Given the description of an element on the screen output the (x, y) to click on. 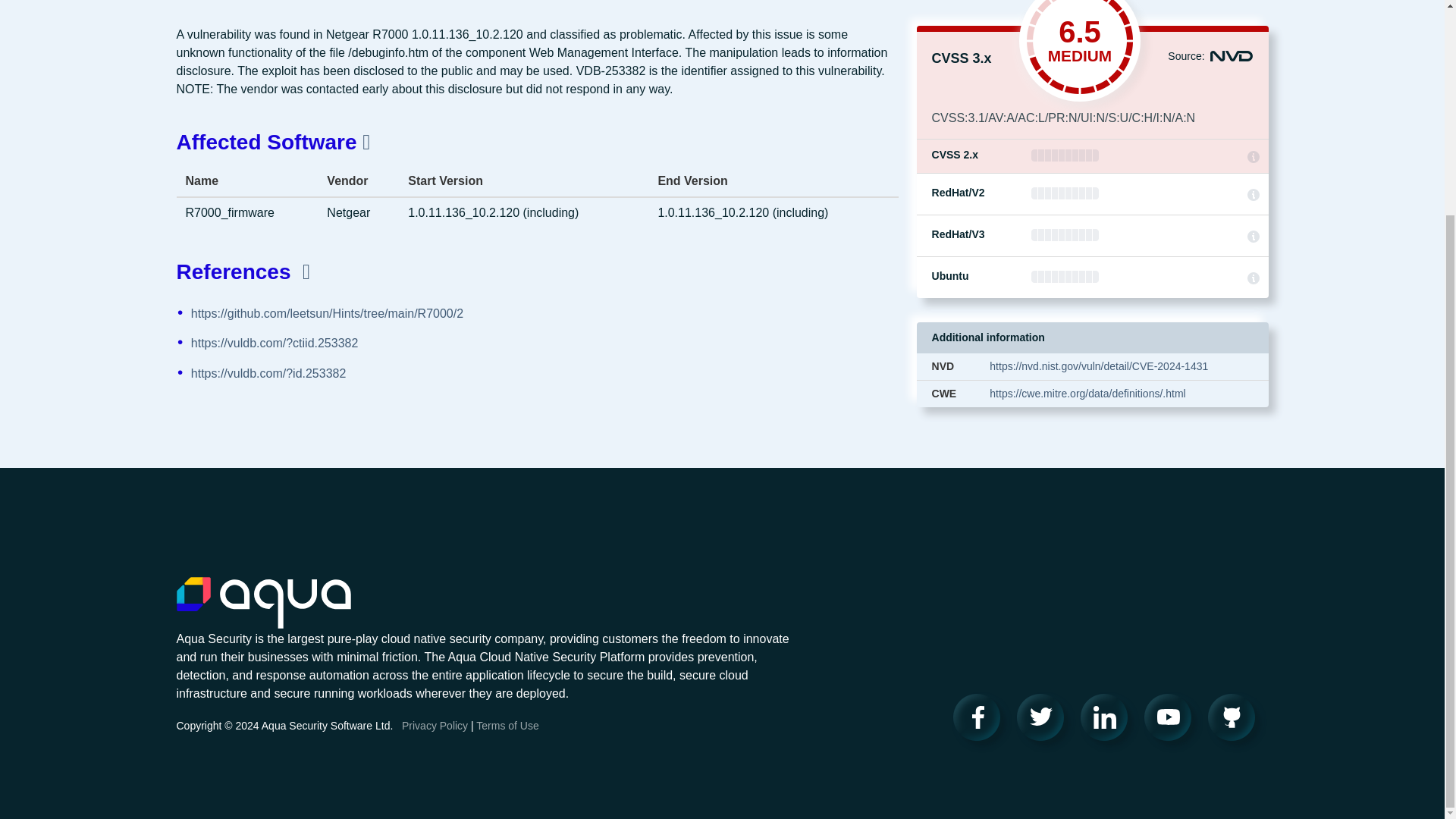
facebook (981, 720)
Aqua Container Security (263, 603)
git (1236, 720)
Aqua Container Security (263, 604)
Terms of Use (507, 725)
youtube (1172, 720)
linkedin (1108, 720)
Privacy Policy (434, 726)
twitter (1045, 720)
